Given the description of an element on the screen output the (x, y) to click on. 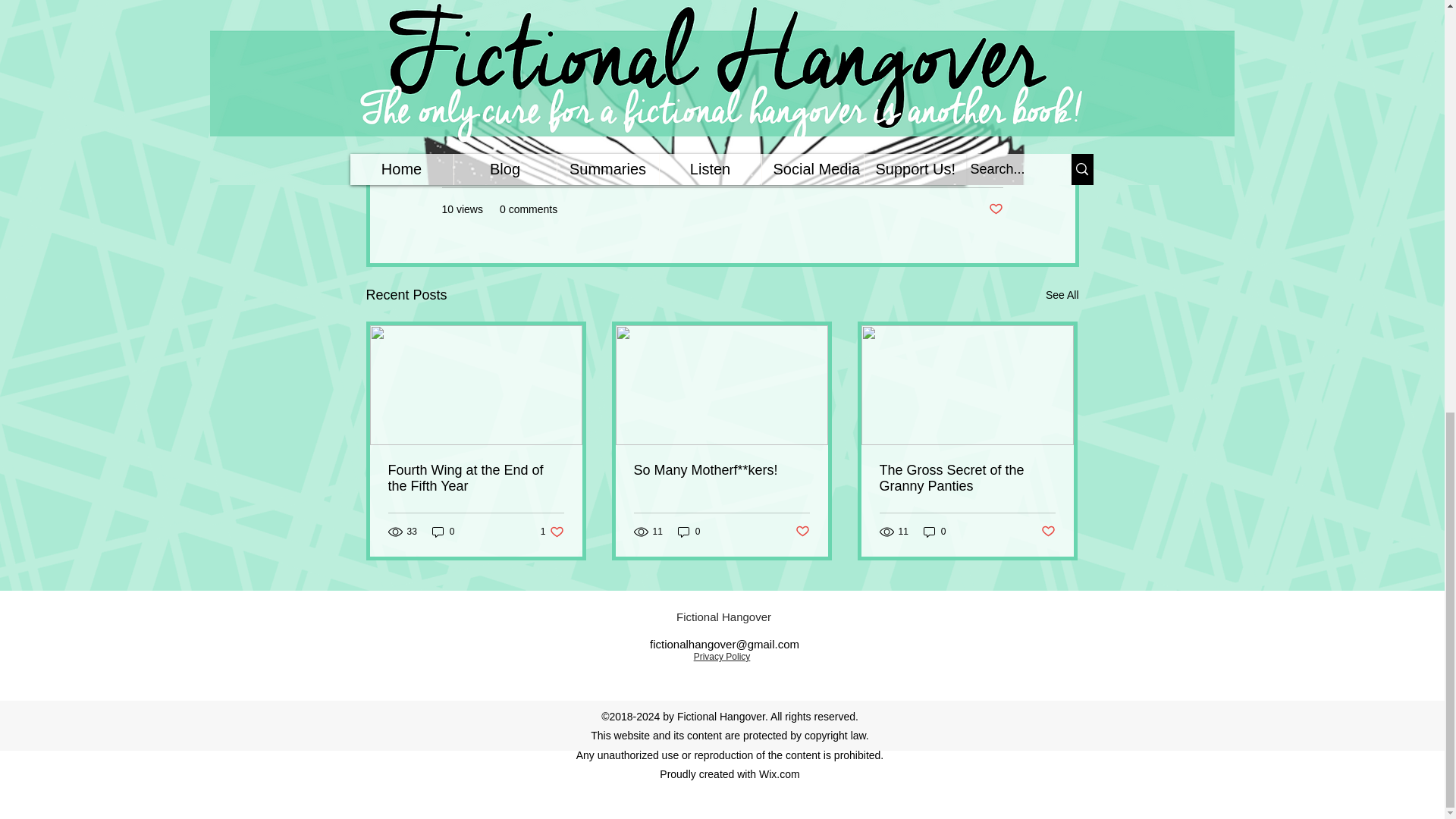
listen to our episode (723, 20)
Blog Posts (977, 163)
Post not marked as liked (995, 209)
check out our summary (709, 30)
See All (1061, 295)
